Given the description of an element on the screen output the (x, y) to click on. 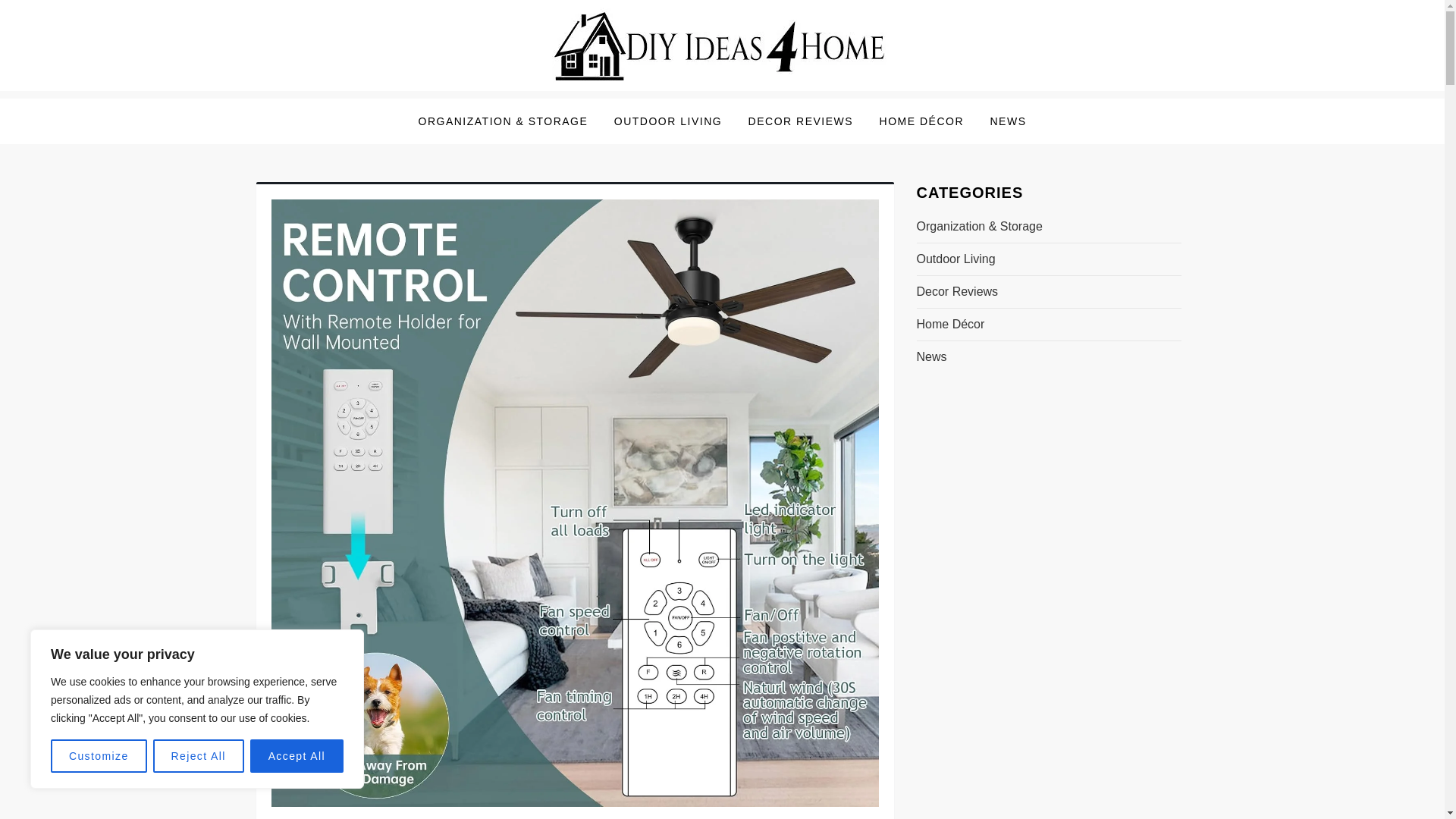
Customize (98, 756)
DIY Ideas 4 Home (379, 101)
Reject All (198, 756)
NEWS (1007, 121)
Accept All (296, 756)
DECOR REVIEWS (800, 121)
OUTDOOR LIVING (667, 121)
